Given the description of an element on the screen output the (x, y) to click on. 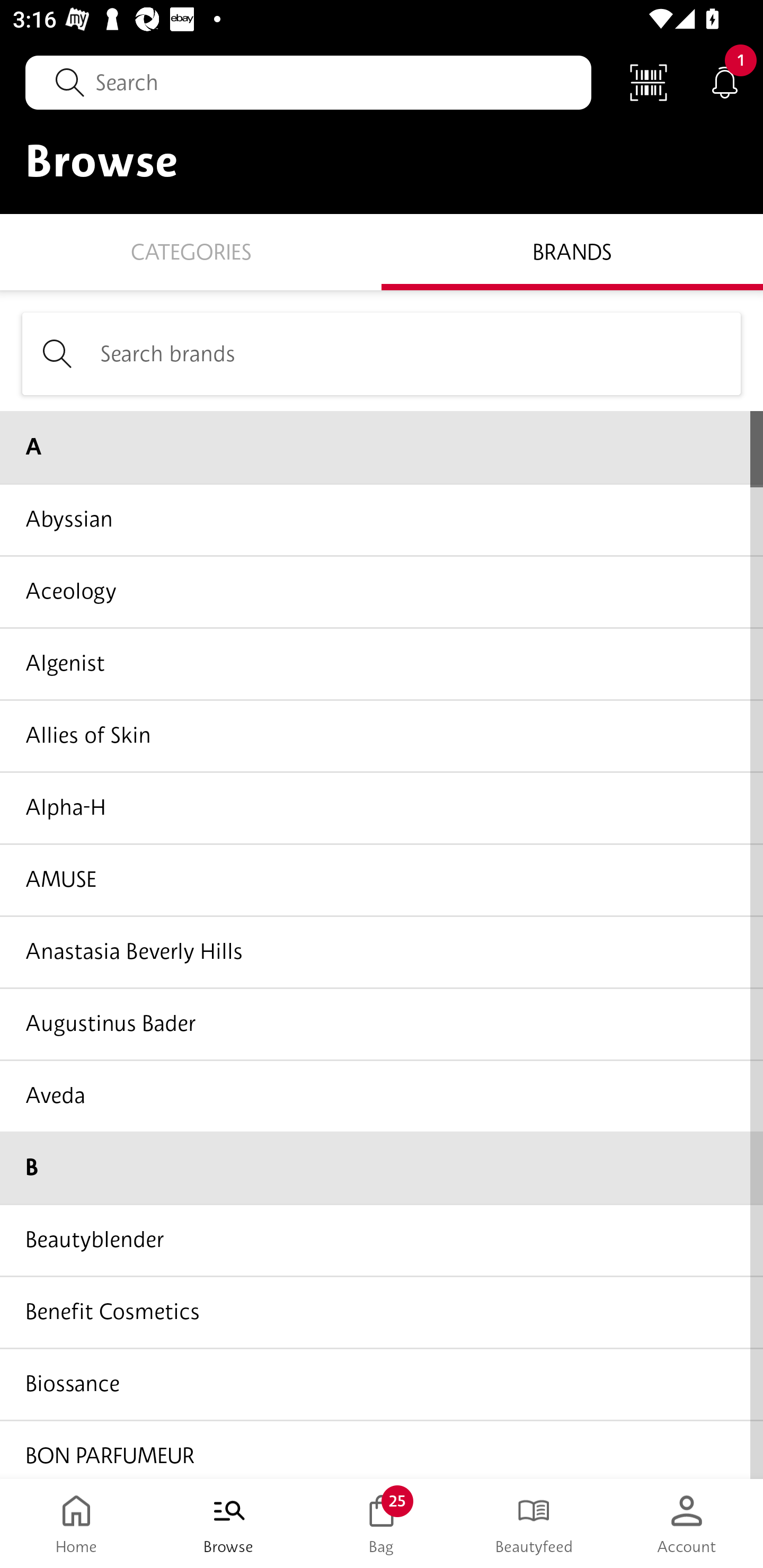
Scan Code (648, 81)
Notifications (724, 81)
Search (308, 81)
Categories CATEGORIES (190, 251)
Search brands (381, 353)
A (381, 446)
Abyssian (381, 518)
Aceology (381, 591)
Algenist (381, 663)
Allies of Skin (381, 735)
Alpha-H (381, 807)
AMUSE (381, 879)
Anastasia Beverly Hills (381, 951)
Augustinus Bader (381, 1023)
Aveda (381, 1095)
B (381, 1168)
Beautyblender (381, 1240)
Benefit Cosmetics (381, 1311)
Biossance (381, 1382)
BON PARFUMEUR (381, 1448)
Home (76, 1523)
Bag 25 Bag (381, 1523)
Beautyfeed (533, 1523)
Account (686, 1523)
